Given the description of an element on the screen output the (x, y) to click on. 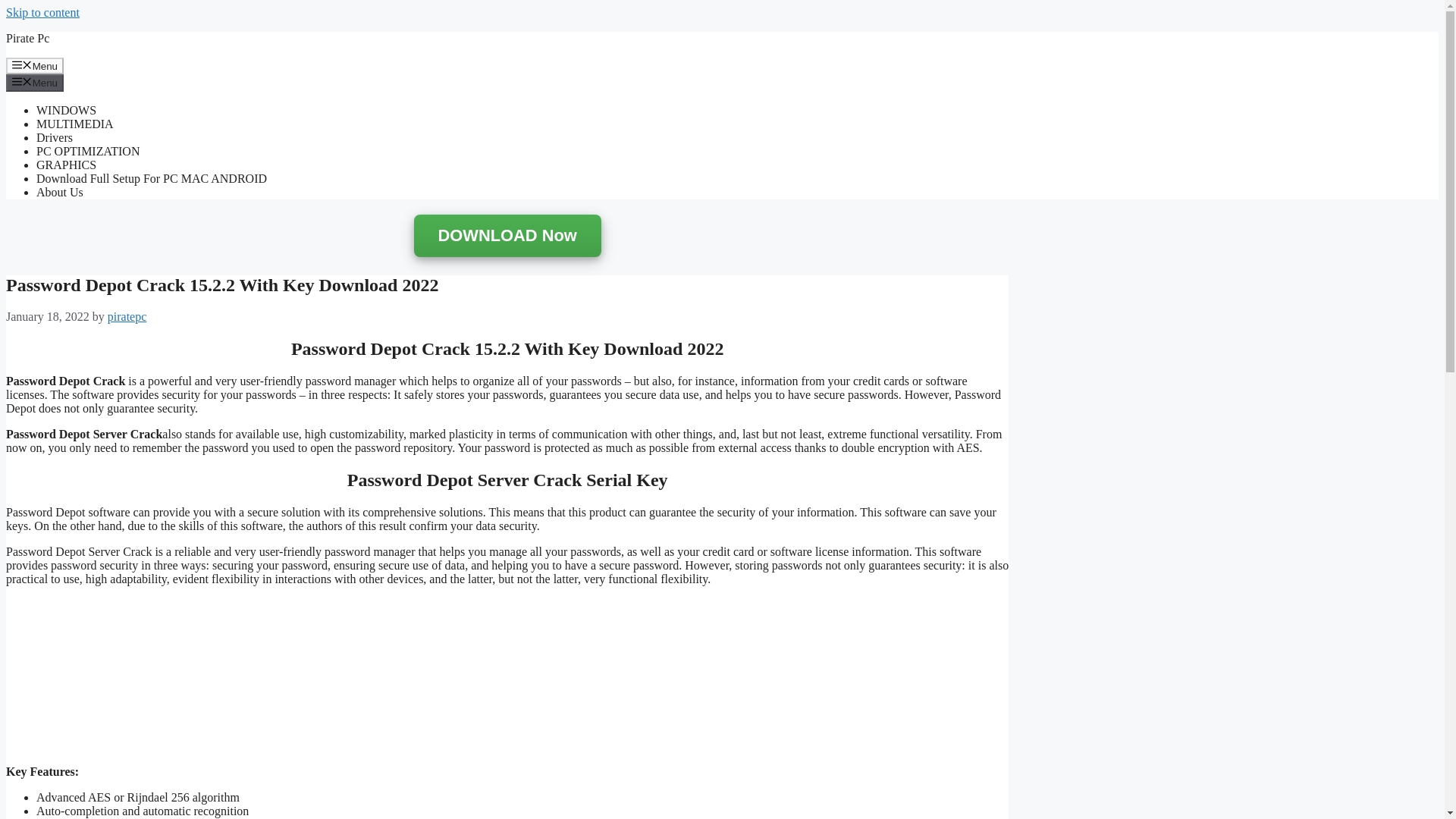
Skip to content (42, 11)
Download Full Setup For PC MAC ANDROID (151, 178)
About Us (59, 192)
DOWNLOAD Now (507, 236)
DOWNLOAD Now (507, 235)
piratepc (127, 316)
MULTIMEDIA (74, 123)
View all posts by piratepc (127, 316)
Menu (34, 65)
Skip to content (42, 11)
Drivers (54, 137)
PC OPTIMIZATION (87, 151)
Pirate Pc (27, 38)
GRAPHICS (66, 164)
Menu (34, 82)
